Given the description of an element on the screen output the (x, y) to click on. 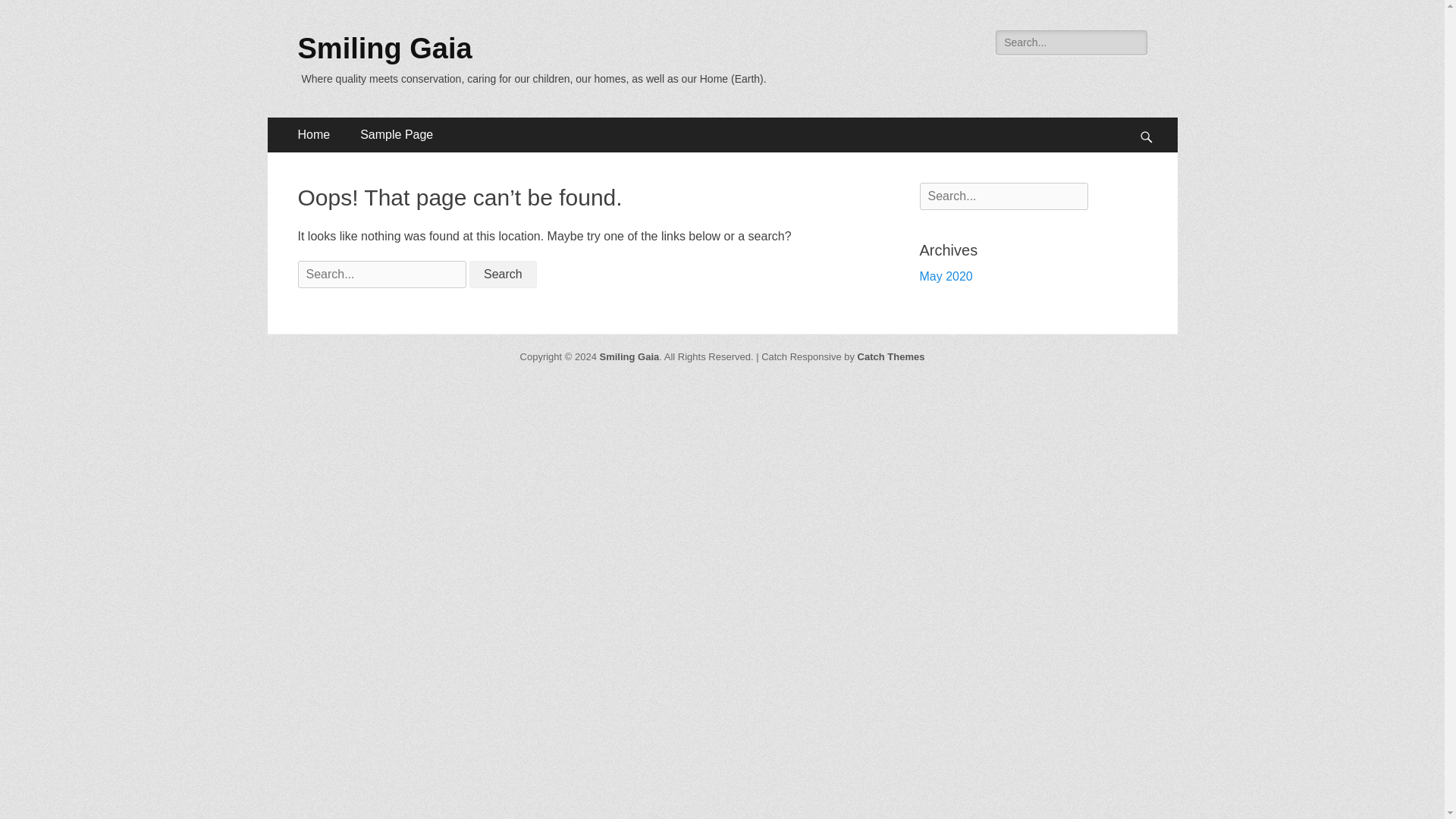
Catch Themes (890, 356)
Search for: (381, 274)
Search (502, 274)
Home (313, 134)
Sample Page (396, 134)
Search for: (1002, 195)
Search (33, 13)
Search (502, 274)
May 2020 (945, 276)
Smiling Gaia (629, 356)
Search (502, 274)
Search for: (1071, 42)
Smiling Gaia (384, 48)
